Given the description of an element on the screen output the (x, y) to click on. 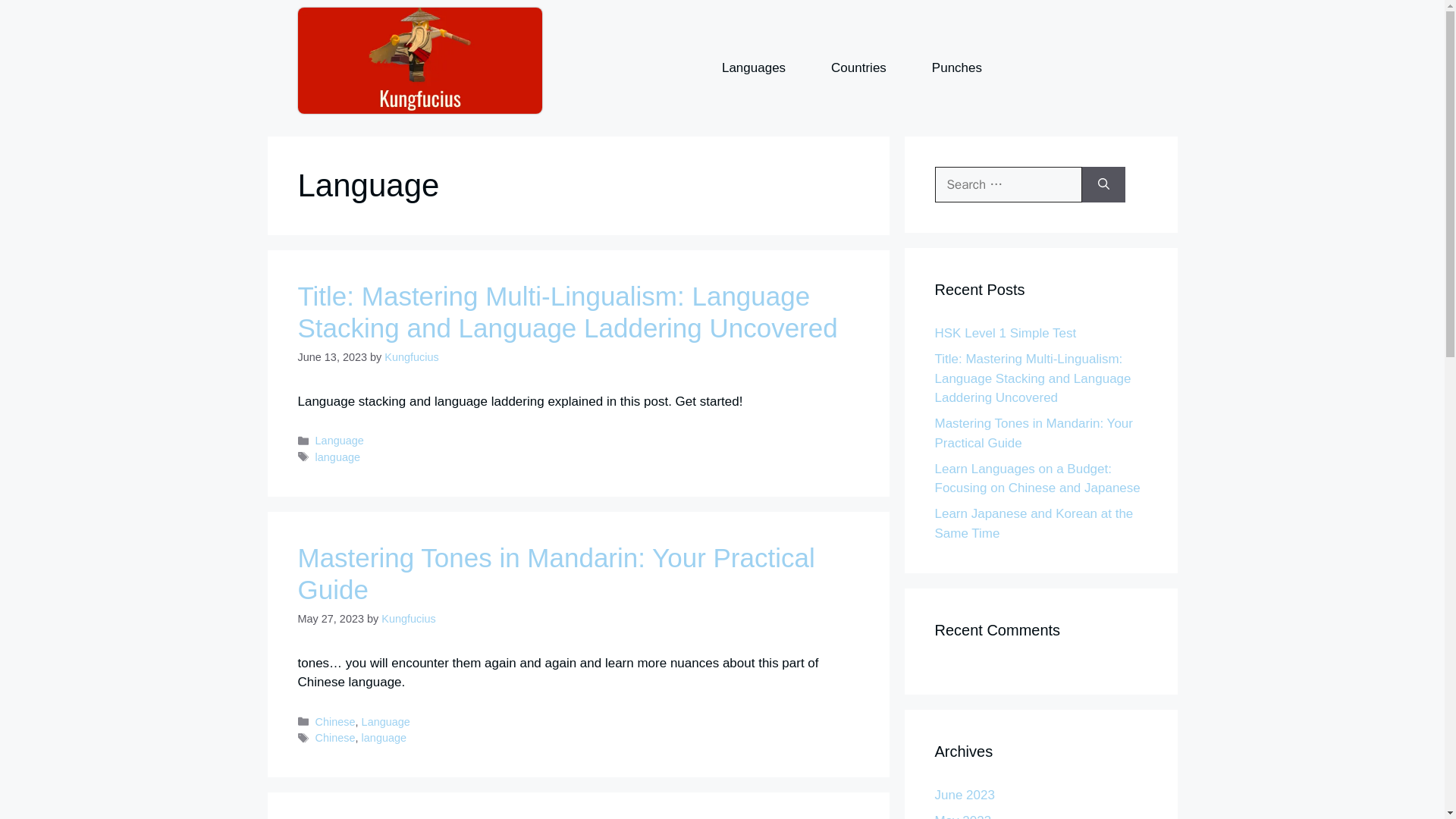
View all posts by Kungfucius (408, 618)
Kungfucius (411, 357)
Countries (858, 67)
Kungfucius (408, 618)
language (337, 457)
Language (339, 440)
Punches (956, 67)
Languages (753, 67)
Mastering Tones in Mandarin: Your Practical Guide (555, 573)
